Given the description of an element on the screen output the (x, y) to click on. 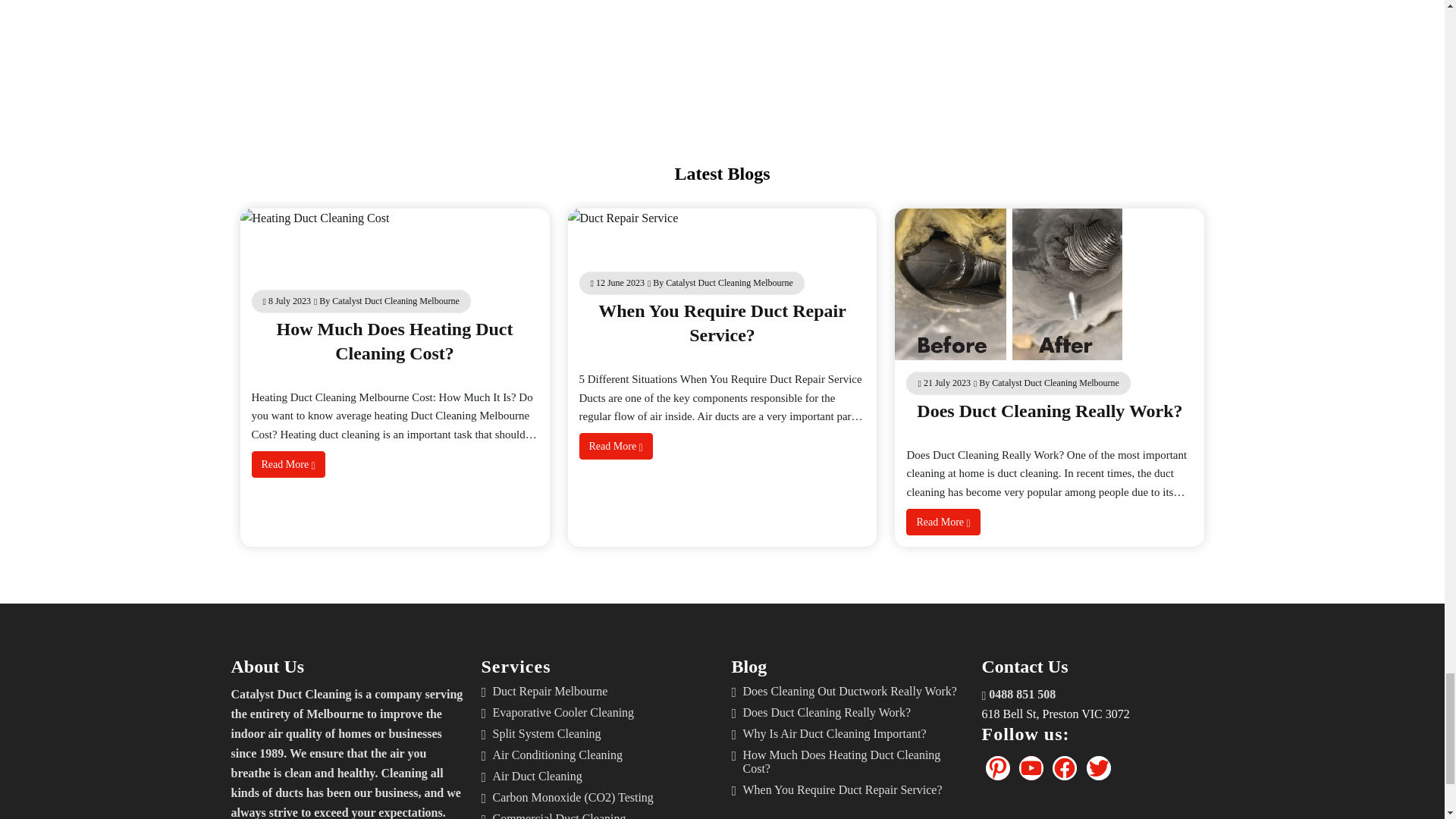
Does Duct Cleaning Really Work? (1049, 410)
When You Require Duct Repair Service? (721, 322)
When You Require Duct Repair Service? (721, 322)
How Much Does Heating Duct Cleaning Cost? (394, 341)
How Much Does Heating Duct Cleaning Cost? (394, 341)
Read More (615, 446)
Read More (287, 464)
